Given the description of an element on the screen output the (x, y) to click on. 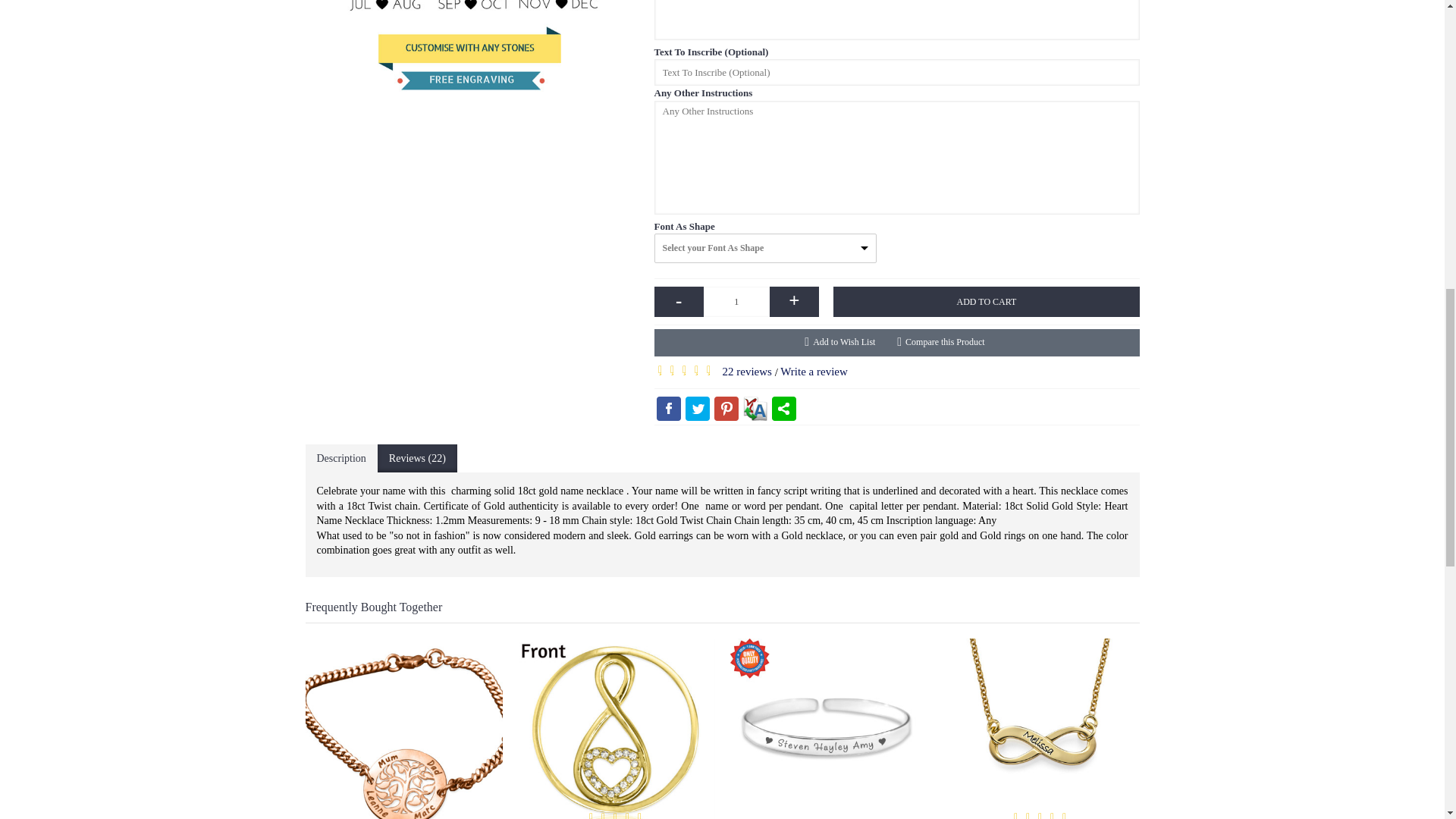
Engraved Infinity Necklace in 18CT Gold (1040, 728)
Personalised My Tree Bracelet - 18CT Rose Gold (403, 728)
Personalised Gold Infinity - Diamonte INSERT ONLY (615, 728)
1 (736, 301)
Solid 18ct White Gold 8mm Endless Bangle (827, 728)
